Given the description of an element on the screen output the (x, y) to click on. 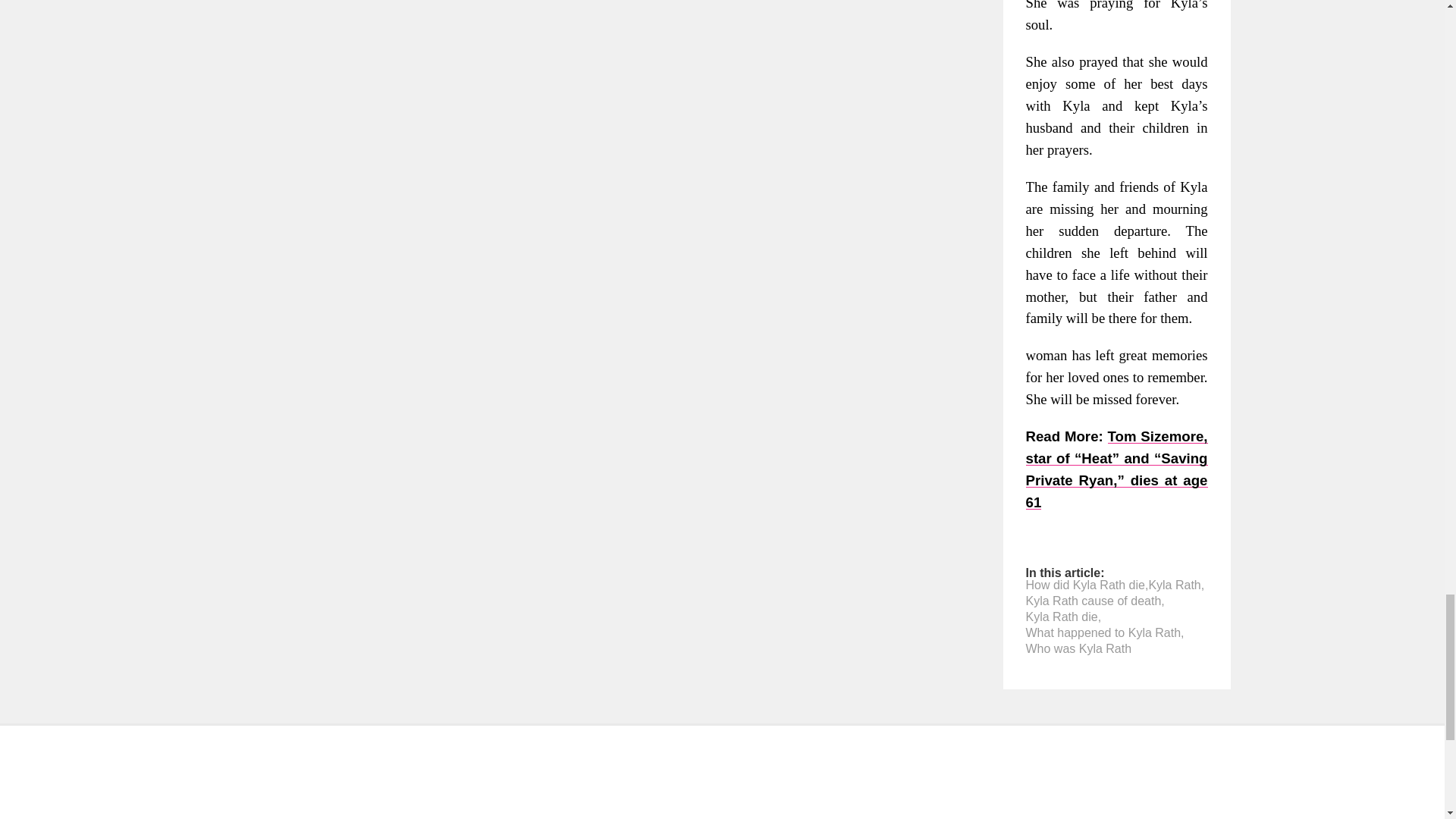
Kyla Rath (1173, 585)
How did Kyla Rath die (1084, 585)
